Given the description of an element on the screen output the (x, y) to click on. 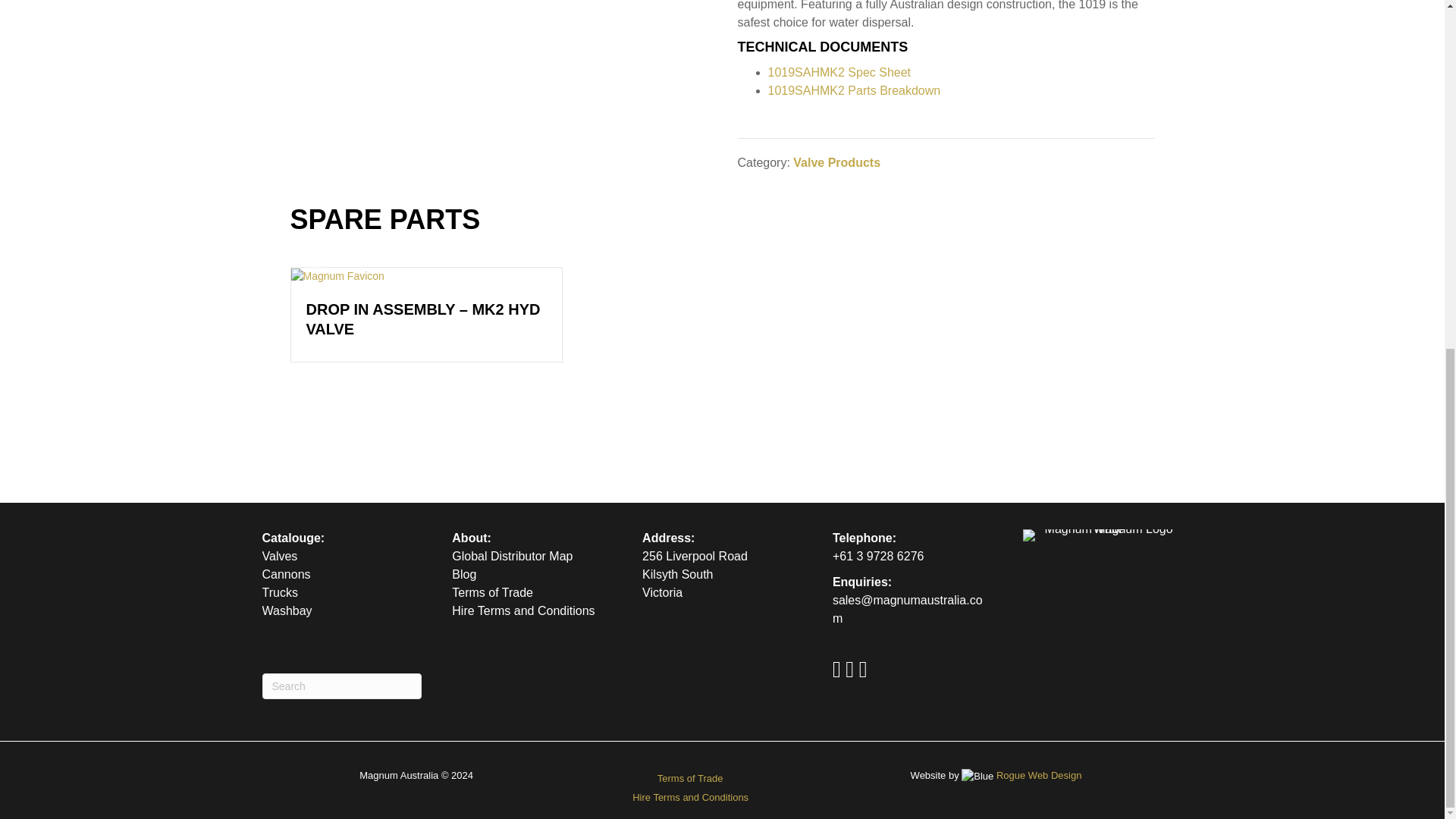
Washbay (287, 610)
Hire Terms and Conditions (522, 610)
1019SAHMK2 Parts Breakdown (853, 90)
Blog (463, 574)
Cannons (286, 574)
Magnum Magnum Logo White (1102, 535)
Terms of Trade (491, 592)
Valve Products (836, 162)
Global Distributor Map (511, 555)
Type and press Enter to search. (342, 686)
Trucks (280, 592)
1019SAHMK2 Spec Sheet (839, 72)
Valves (280, 555)
